Given the description of an element on the screen output the (x, y) to click on. 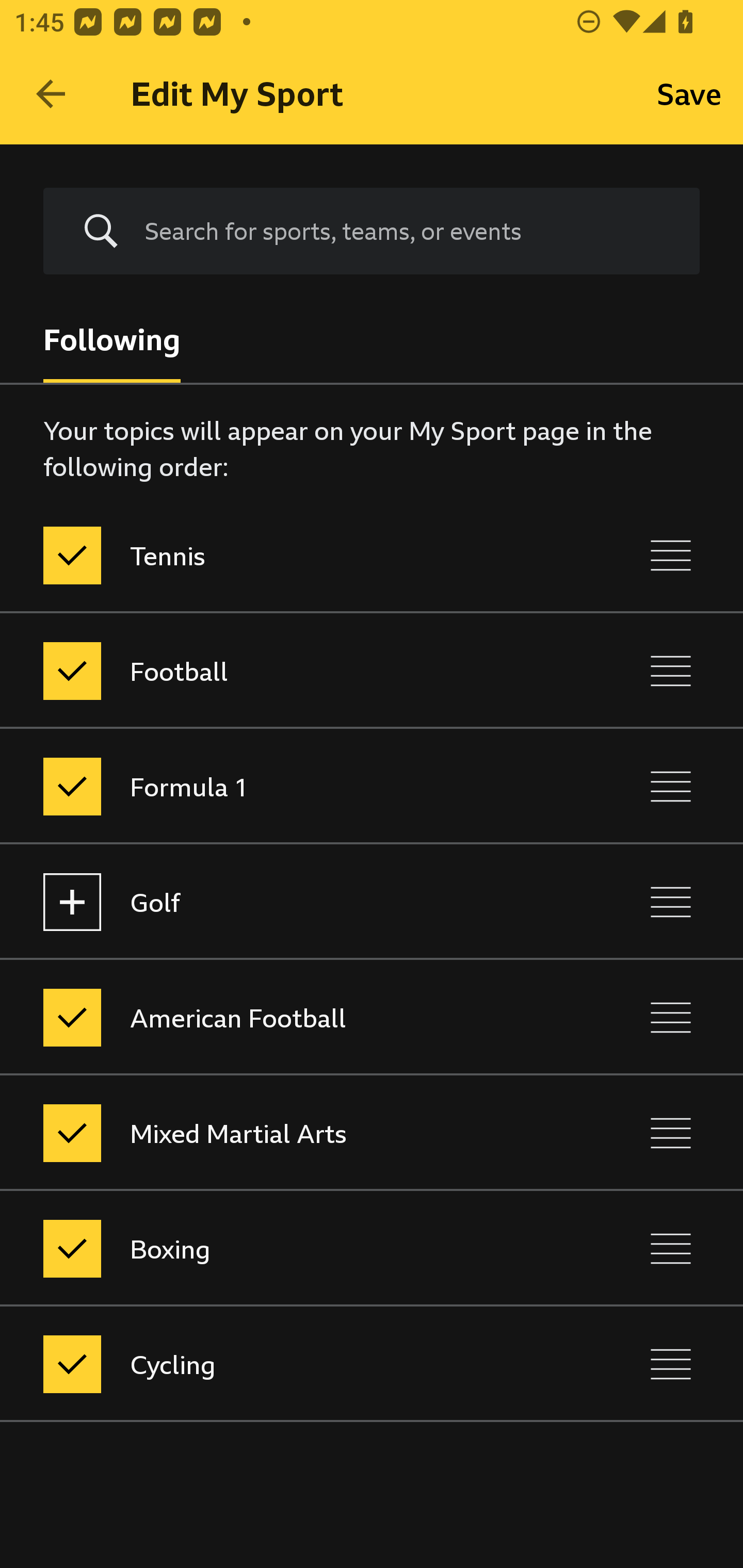
Navigate up (50, 93)
Save (689, 93)
Search for sports, teams, or events (371, 231)
Search for sports, teams, or events (407, 231)
Tennis (284, 555)
Reorder Tennis (670, 555)
Football (284, 671)
Reorder Football (670, 671)
Formula 1 (284, 786)
Reorder Formula 1 (670, 786)
Golf (284, 901)
Reorder Golf (670, 901)
American Football (284, 1017)
Reorder American Football (670, 1017)
Mixed Martial Arts (284, 1133)
Reorder Mixed Martial Arts (670, 1133)
Boxing (284, 1248)
Reorder Boxing (670, 1248)
Cycling (284, 1364)
Reorder Cycling (670, 1364)
